Given the description of an element on the screen output the (x, y) to click on. 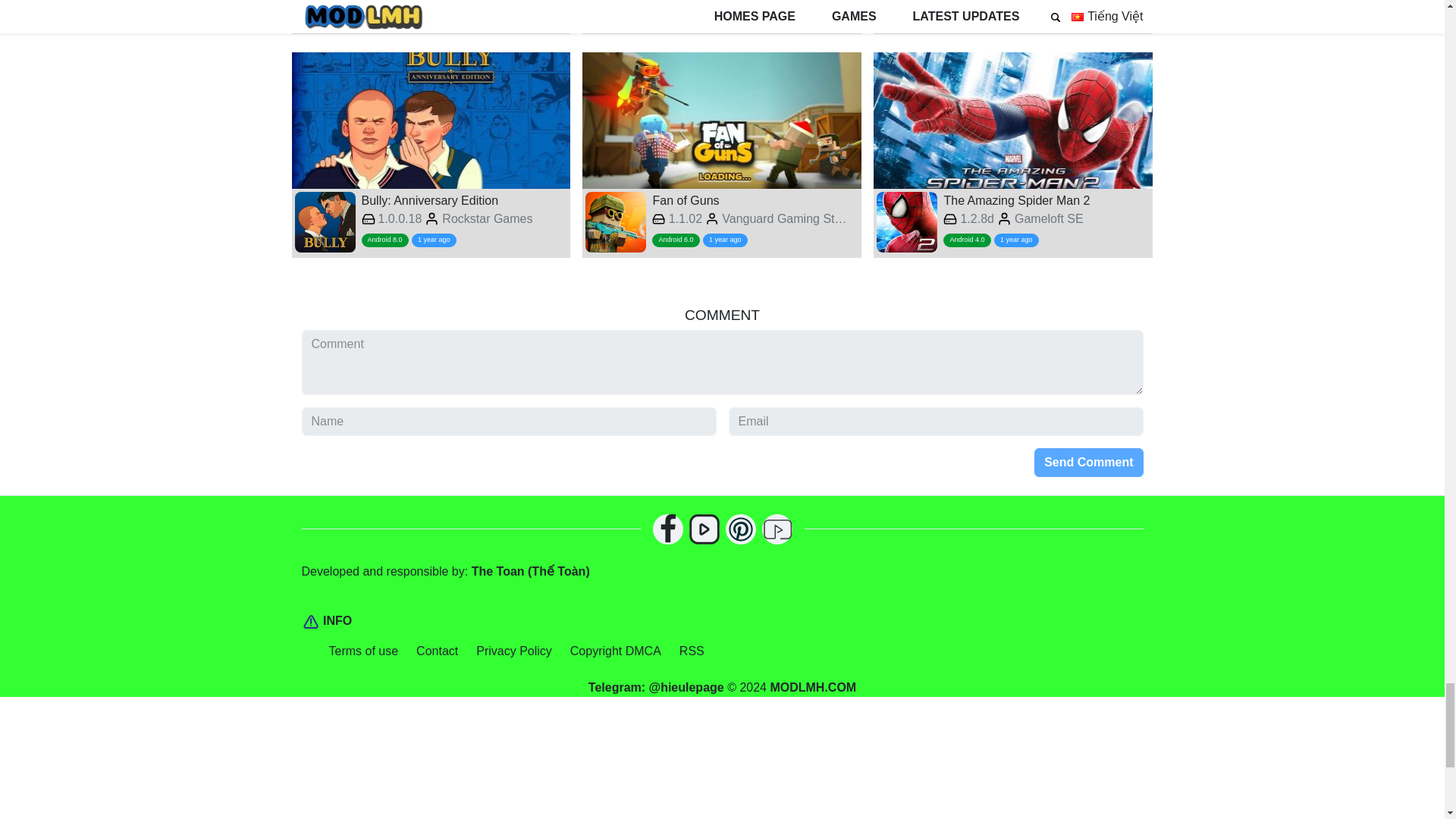
MODLMH.COM (430, 17)
Contact (813, 686)
RSS (437, 650)
The Killbox: Arena Combat 1.1.7  Menu, Unlimited money (691, 650)
Bully: Anniversary Edition 1.0.0.18  Menu, Unlimited Money (721, 17)
